Given the description of an element on the screen output the (x, y) to click on. 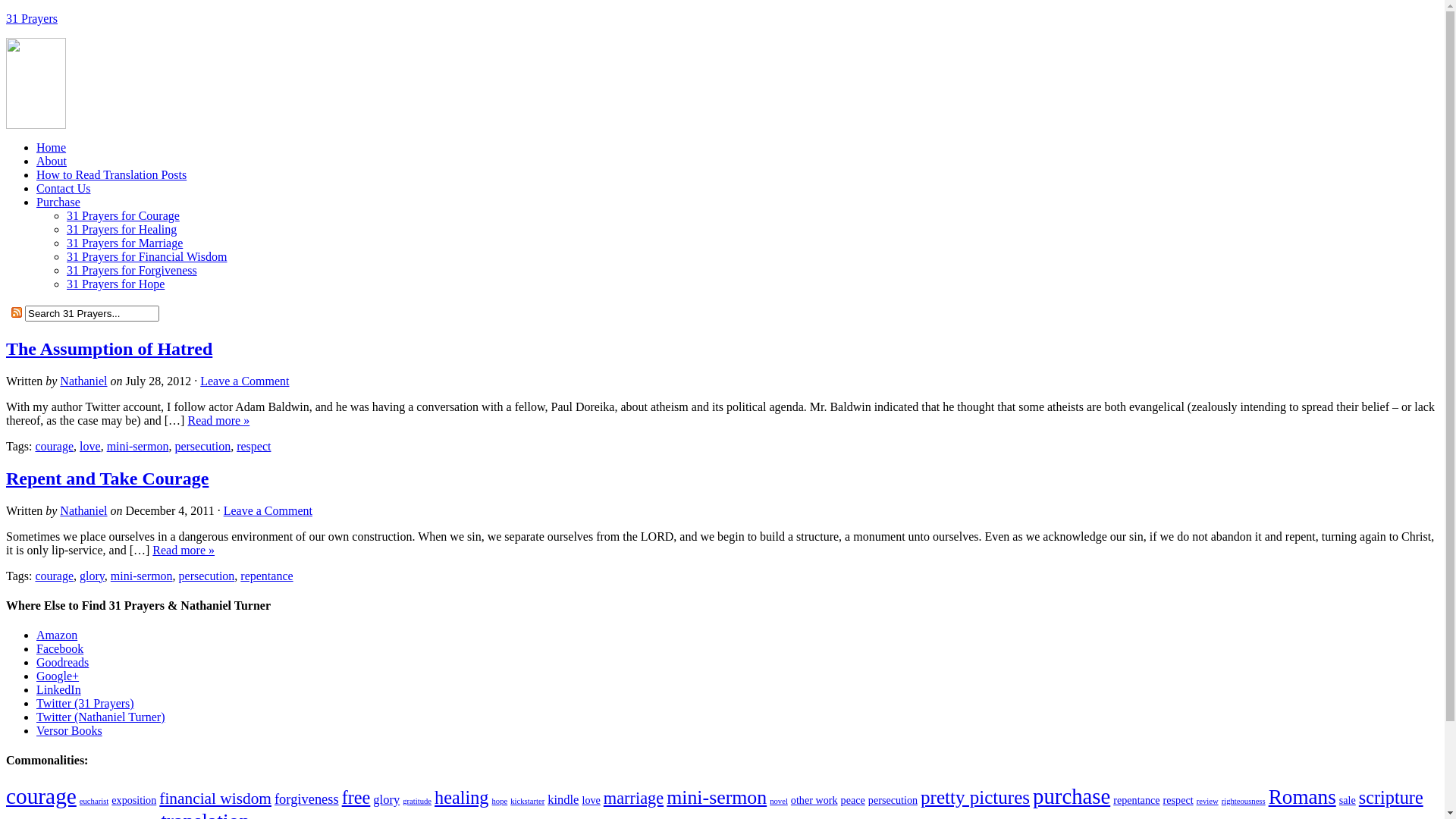
marriage Element type: text (633, 797)
Twitter (Nathaniel Turner) Element type: text (100, 716)
31 Prayers for Hope Element type: text (115, 283)
31 Prayers for Marriage Element type: text (124, 242)
31 Prayers Element type: text (31, 18)
courage Element type: text (53, 445)
pretty pictures Element type: text (974, 797)
persecution Element type: text (206, 575)
respect Element type: text (1178, 799)
peace Element type: text (852, 799)
forgiveness Element type: text (306, 798)
novel Element type: text (778, 801)
Romans Element type: text (1302, 796)
31 Prayers for Financial Wisdom Element type: text (146, 256)
persecution Element type: text (202, 445)
Home Element type: text (50, 147)
glory Element type: text (386, 799)
gratitude Element type: text (416, 801)
purchase Element type: text (1071, 796)
persecution Element type: text (892, 799)
free Element type: text (356, 797)
Google+ Element type: text (57, 675)
Purchase Element type: text (58, 201)
How to Read Translation Posts Element type: text (111, 174)
repentance Element type: text (266, 575)
Leave a Comment Element type: text (267, 510)
sale Element type: text (1347, 799)
repentance Element type: text (1136, 799)
love Element type: text (590, 799)
Leave a Comment Element type: text (244, 380)
Nathaniel Element type: text (82, 380)
righteousness Element type: text (1243, 801)
love Element type: text (89, 445)
Amazon Element type: text (56, 634)
eucharist Element type: text (93, 801)
glory Element type: text (91, 575)
review Element type: text (1207, 801)
LinkedIn Element type: text (58, 689)
Repent and Take Courage Element type: text (107, 478)
financial wisdom Element type: text (215, 798)
courage Element type: text (53, 575)
31 Prayers for Courage Element type: text (122, 215)
courage Element type: text (41, 796)
Goodreads Element type: text (62, 661)
Nathaniel Element type: text (82, 510)
other work Element type: text (813, 799)
Versor Books Element type: text (69, 730)
kickstarter Element type: text (527, 801)
31 Prayers for Healing Element type: text (121, 228)
respect Element type: text (253, 445)
31 Prayers for Forgiveness Element type: text (131, 269)
exposition Element type: text (133, 799)
healing Element type: text (461, 797)
hope Element type: text (499, 801)
Site RSS Feed Element type: hover (16, 312)
The Assumption of Hatred Element type: text (109, 348)
Facebook Element type: text (59, 648)
kindle Element type: text (562, 799)
About Element type: text (51, 160)
Contact Us Element type: text (63, 188)
mini-sermon Element type: text (716, 797)
mini-sermon Element type: text (141, 575)
Twitter (31 Prayers) Element type: text (85, 702)
mini-sermon Element type: text (137, 445)
